Given the description of an element on the screen output the (x, y) to click on. 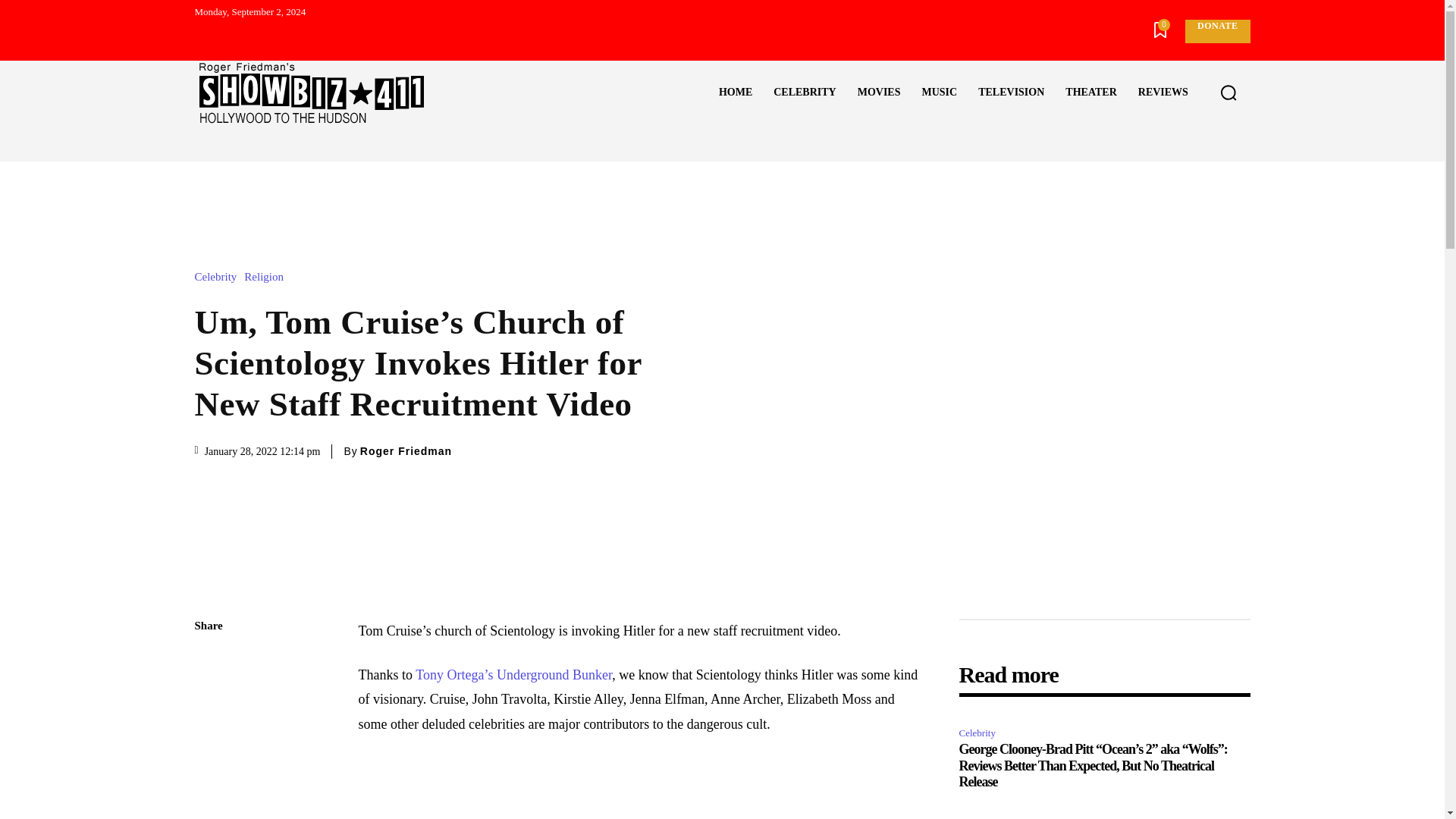
MUSIC (939, 92)
MOVIES (879, 92)
DONATE (1217, 31)
CELEBRITY (803, 92)
Celebrity (218, 276)
THEATER (1090, 92)
HOME (734, 92)
TELEVISION (1011, 92)
Donate (1217, 31)
REVIEWS (1162, 92)
